Given the description of an element on the screen output the (x, y) to click on. 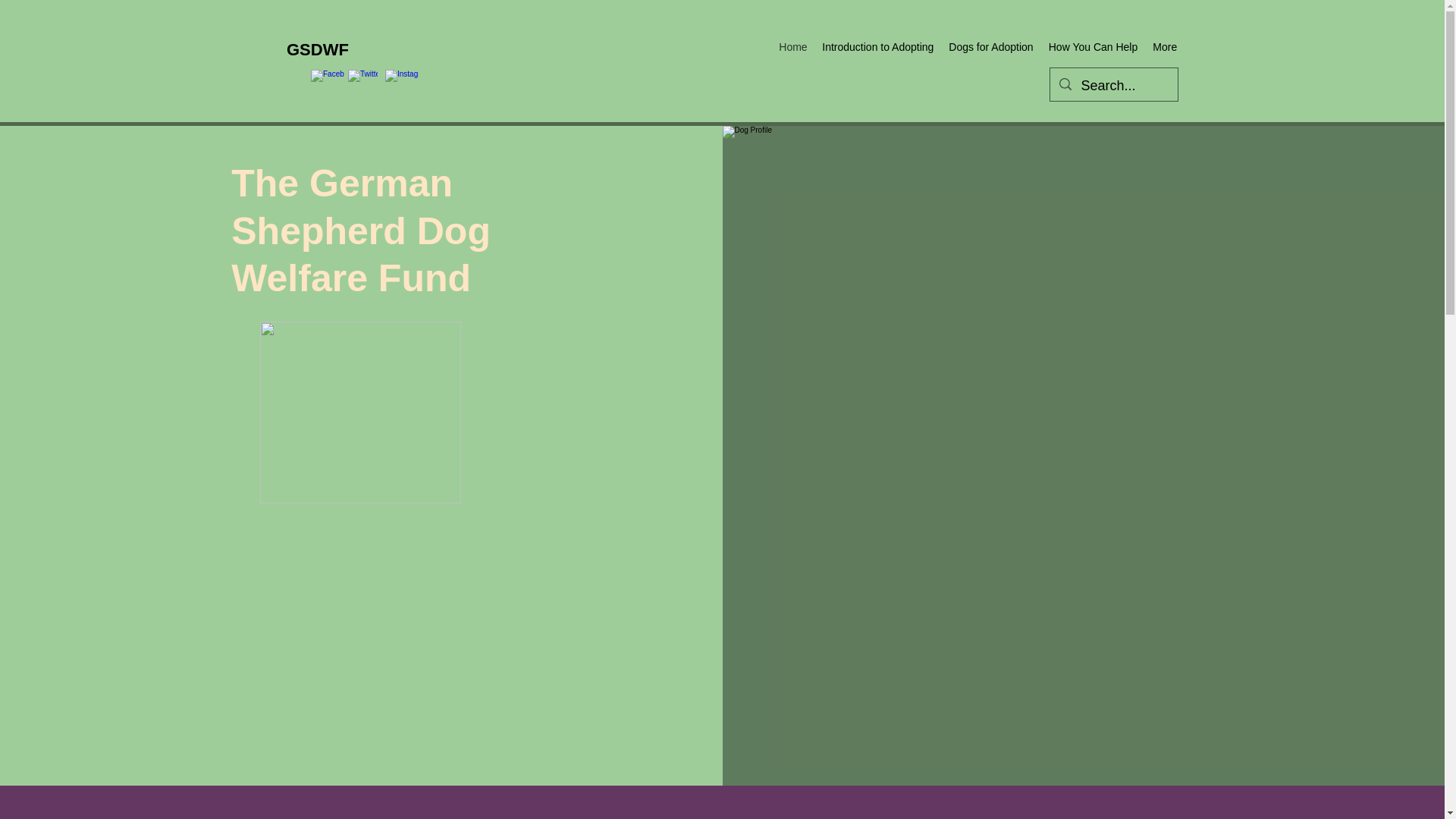
How You Can Help (1092, 45)
Picture1.png (360, 412)
Introduction to Adopting (876, 45)
Dogs for Adoption (990, 45)
Home (792, 45)
